Given the description of an element on the screen output the (x, y) to click on. 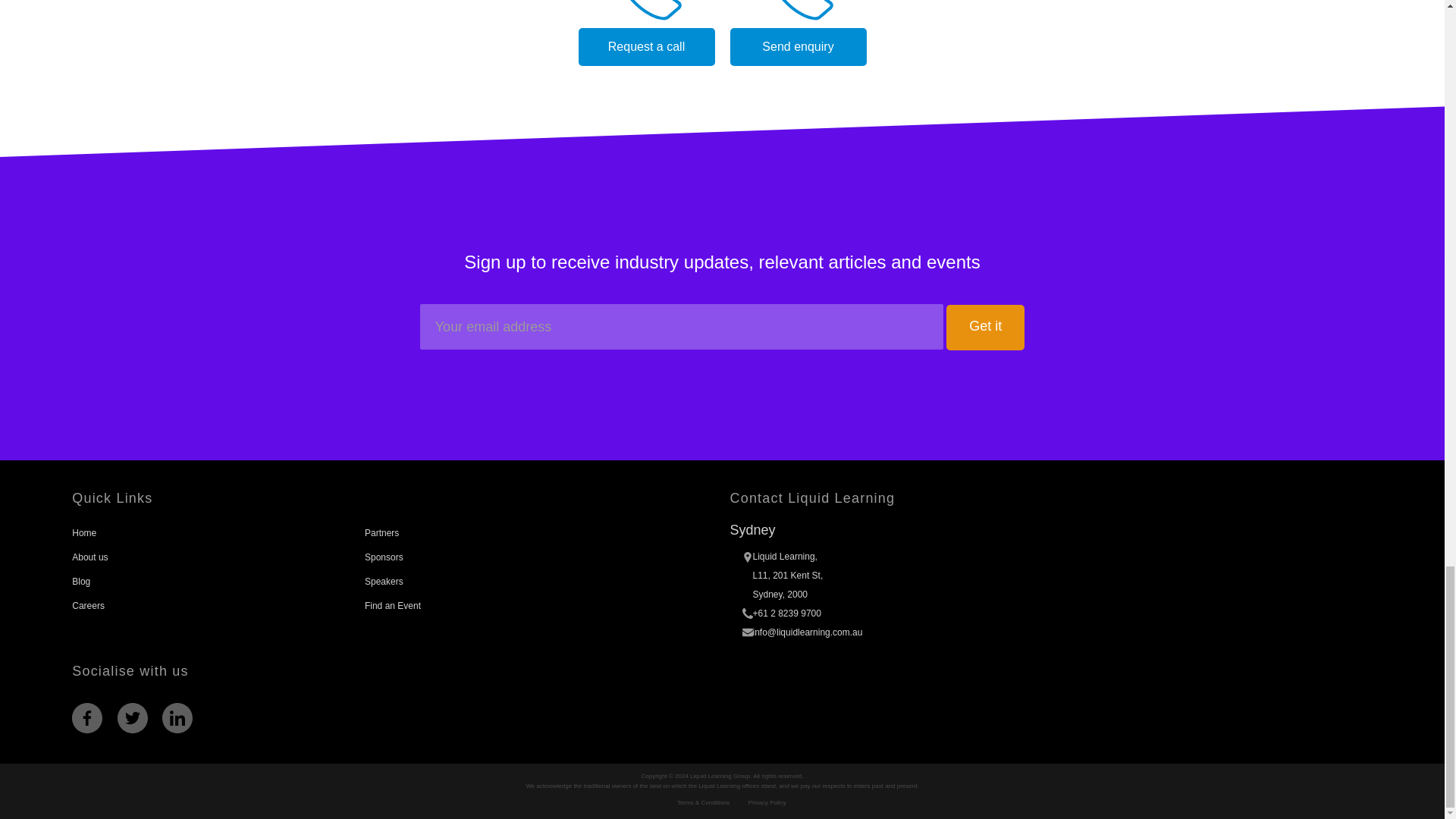
Facebook (86, 717)
Find an Event (392, 605)
Blog (80, 581)
Speakers (384, 581)
Home (83, 532)
Careers (87, 605)
Twitter (132, 717)
Sponsors (384, 557)
Privacy Policy (767, 802)
Get it (985, 327)
